Given the description of an element on the screen output the (x, y) to click on. 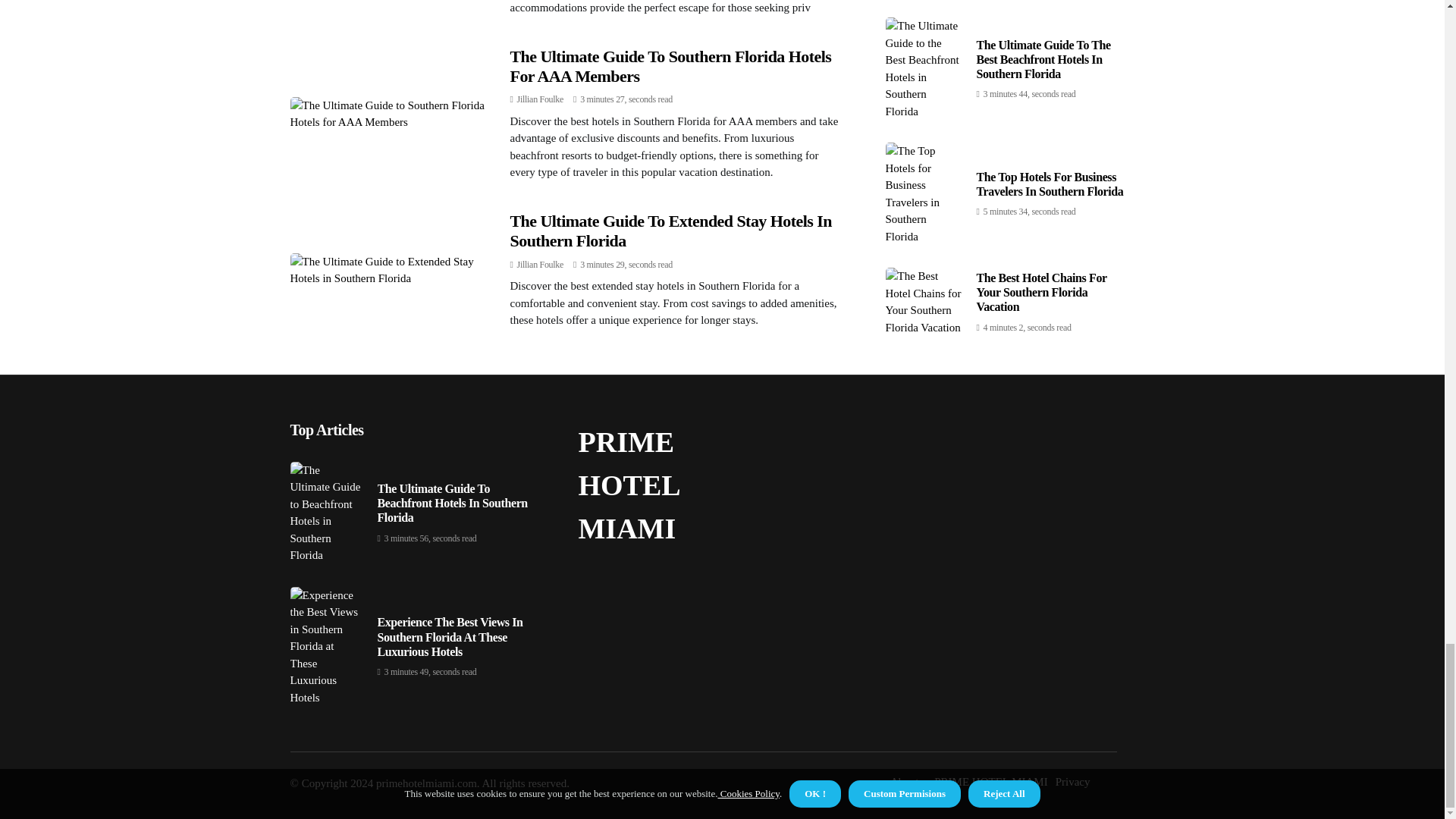
Posts by Jillian Foulke (539, 264)
Jillian Foulke (539, 99)
Posts by Jillian Foulke (539, 99)
Jillian Foulke (539, 264)
